Given the description of an element on the screen output the (x, y) to click on. 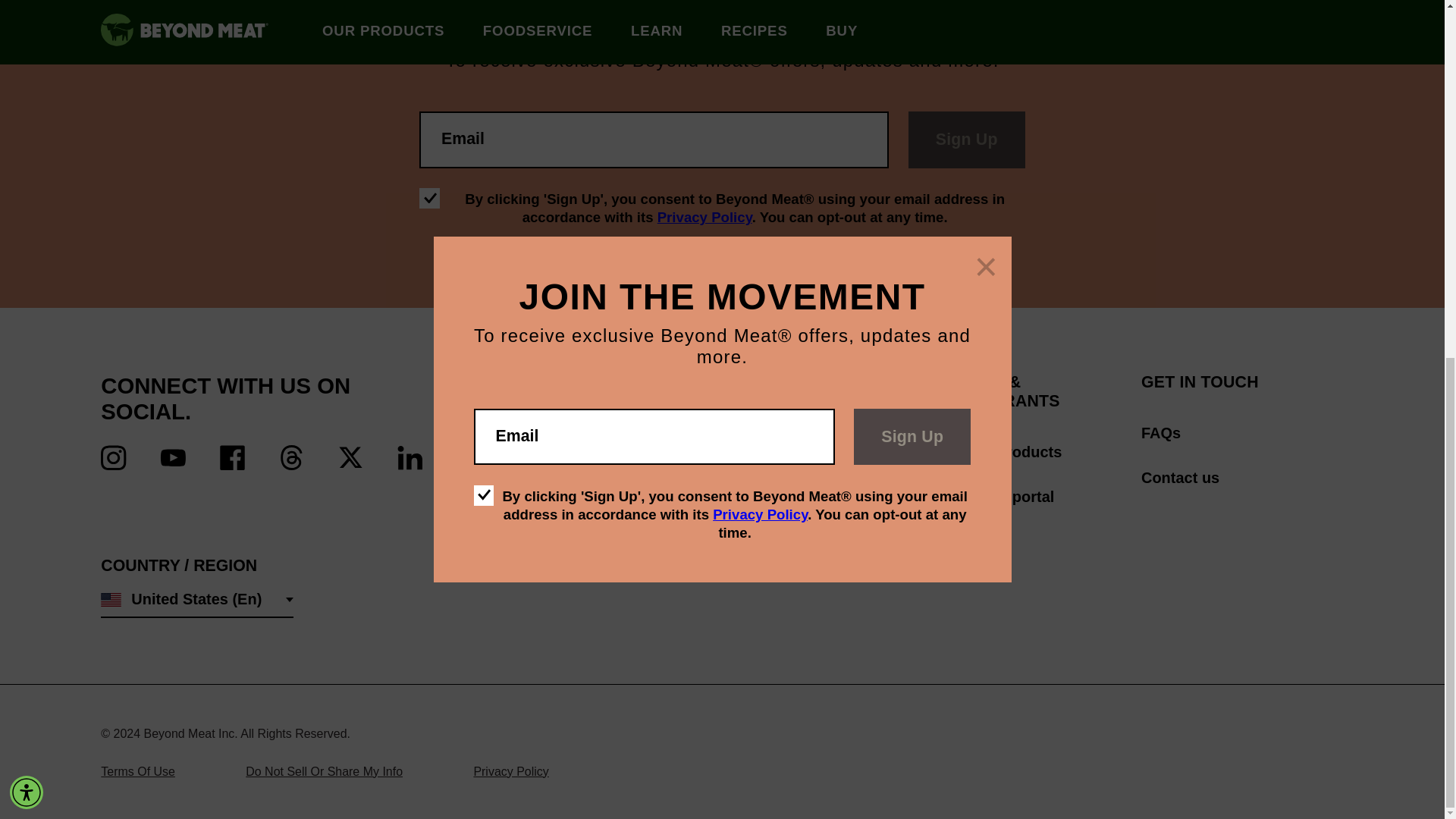
on (429, 198)
Accessibility Menu (26, 162)
